Given the description of an element on the screen output the (x, y) to click on. 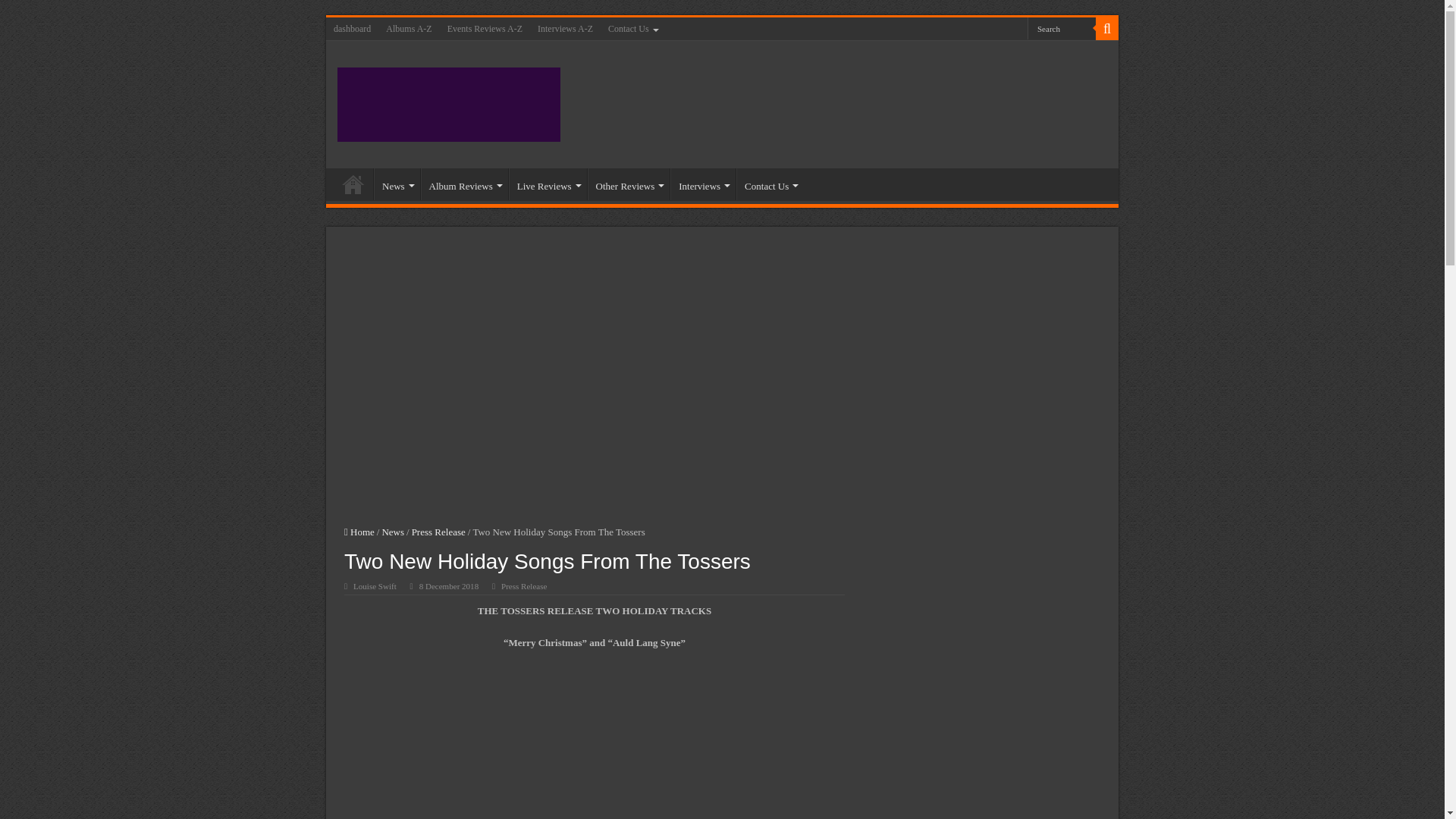
Live Reviews (547, 183)
dashboard (352, 28)
Contact Us (631, 28)
Search (1061, 28)
Interviews A-Z (564, 28)
Home (352, 183)
News (397, 183)
Events Reviews A-Z (484, 28)
Search (1107, 28)
Interviews (702, 183)
